Given the description of an element on the screen output the (x, y) to click on. 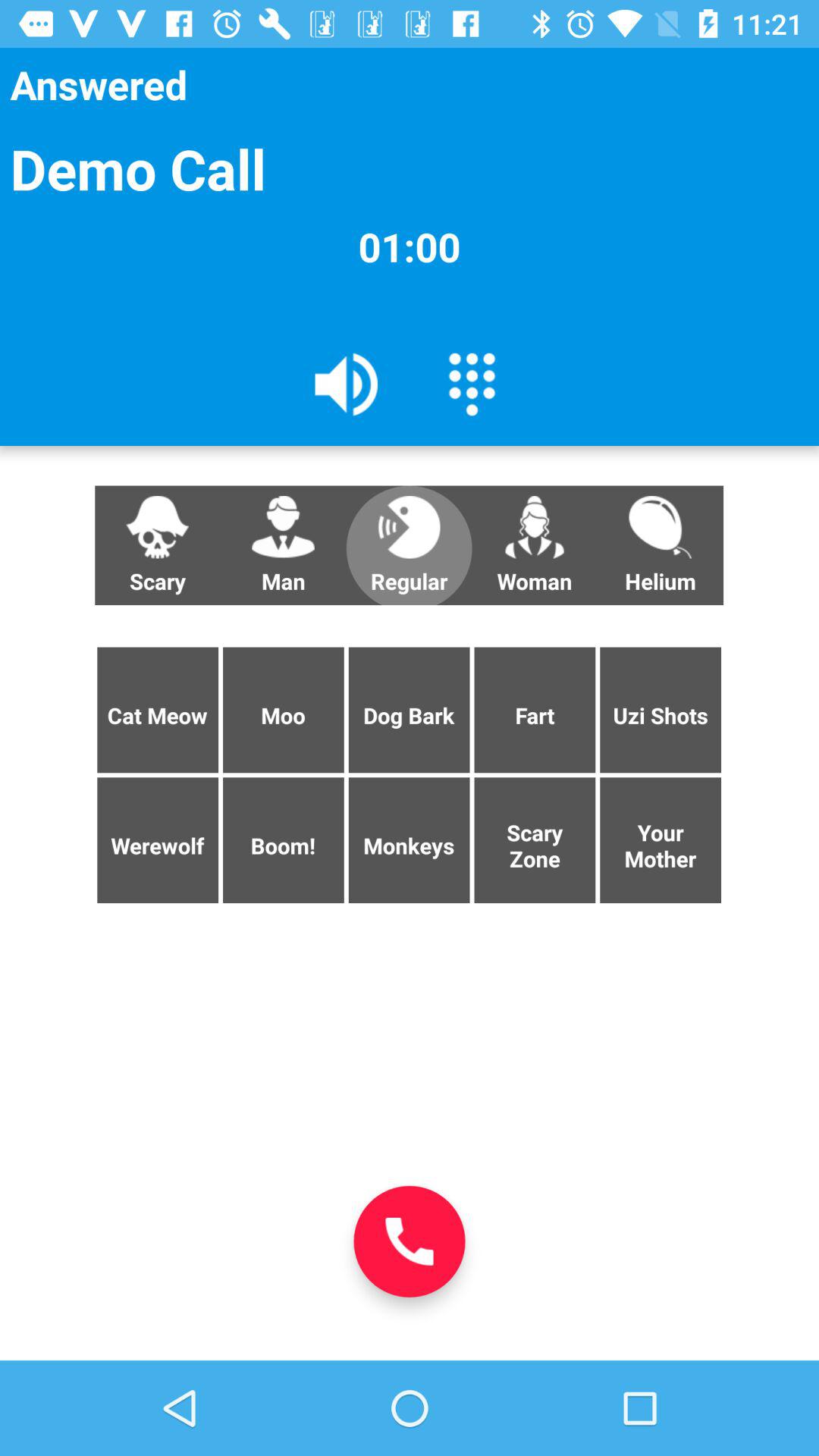
launch button above the regular (472, 382)
